Given the description of an element on the screen output the (x, y) to click on. 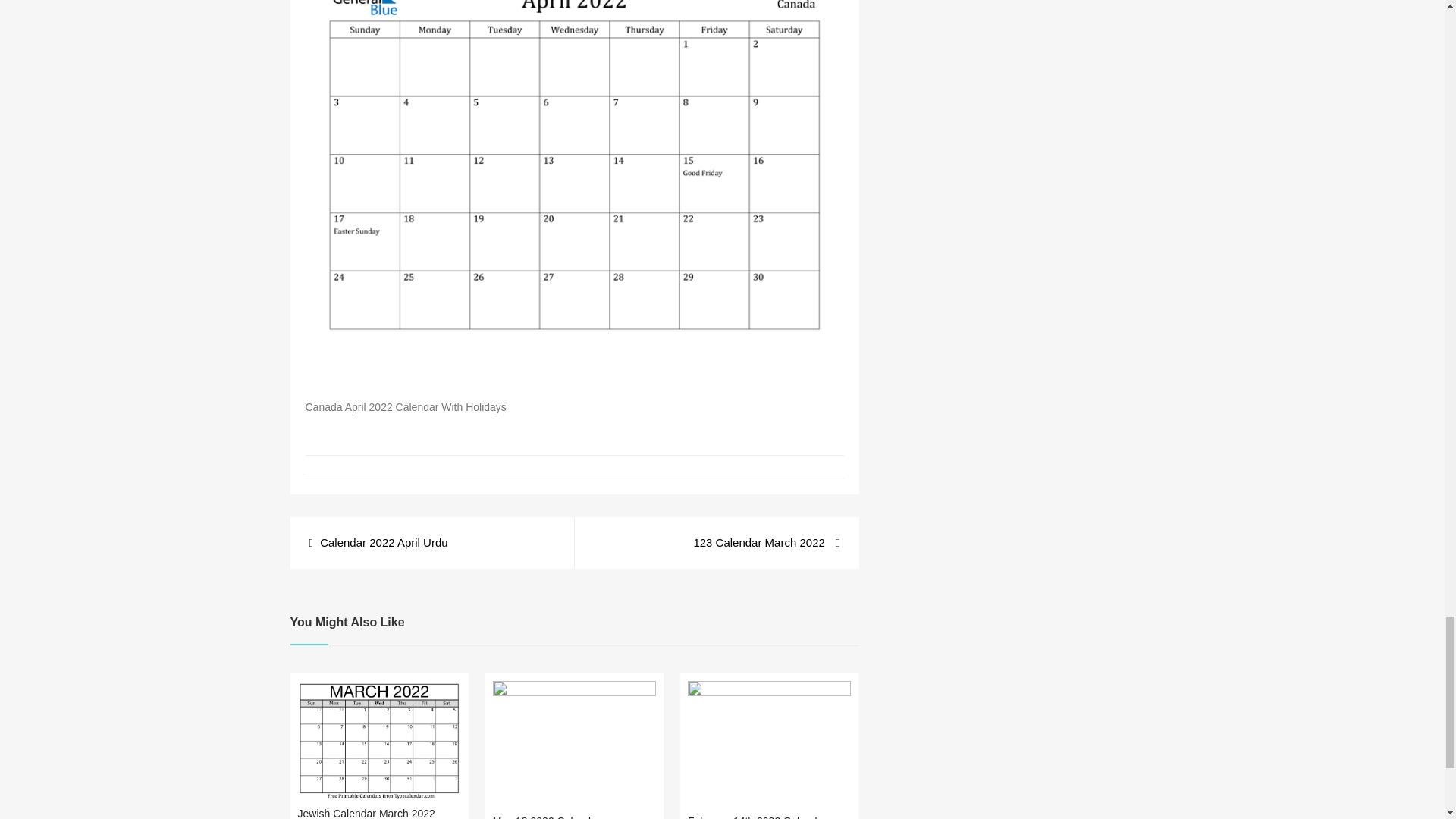
May 18 2022 Calendar (546, 816)
Jewish Calendar March 2022 (365, 813)
February 14th 2022 Calendar (757, 816)
123 Calendar March 2022 (766, 543)
Calendar 2022 April Urdu (378, 543)
